Given the description of an element on the screen output the (x, y) to click on. 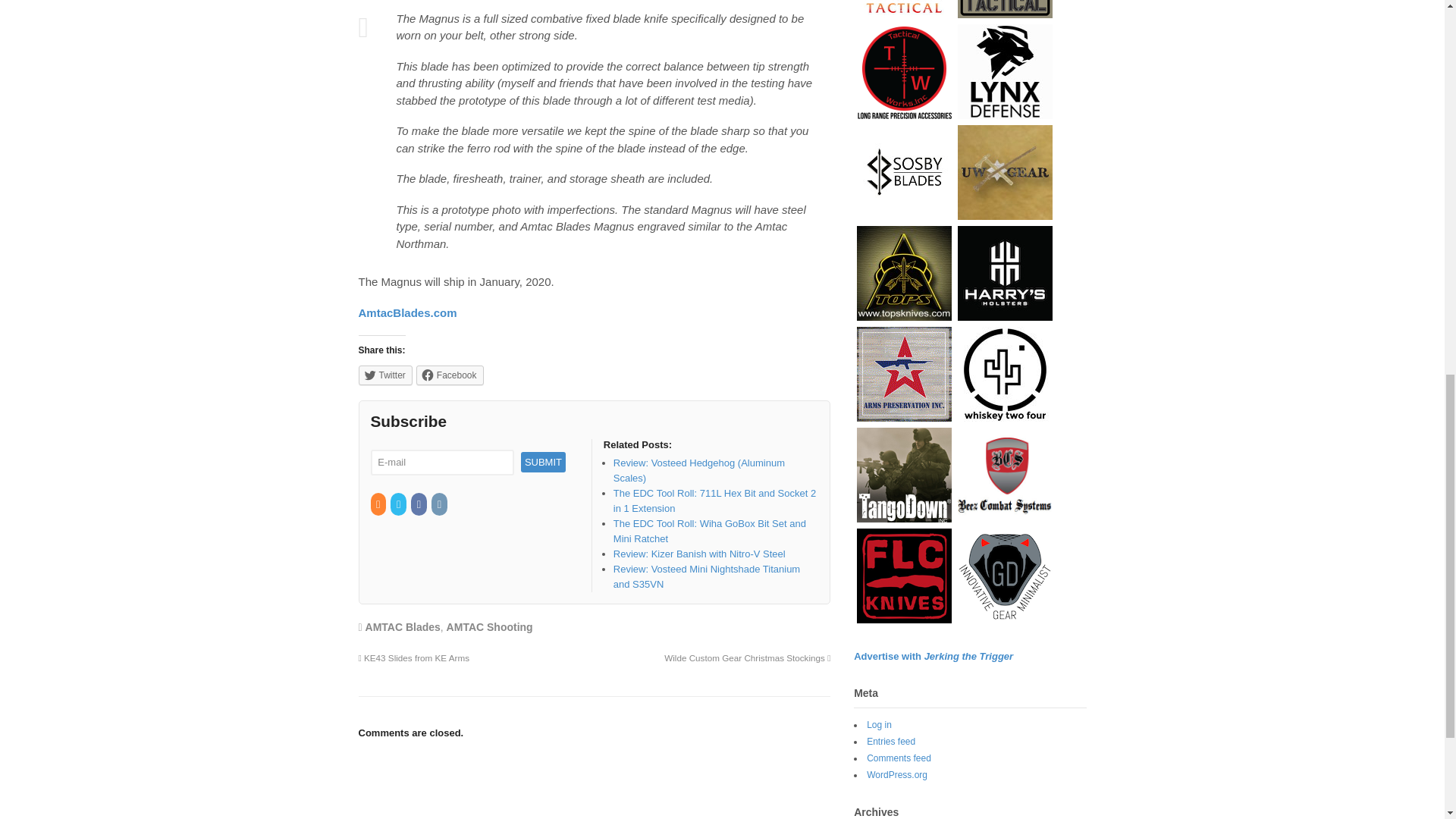
Twitter (385, 374)
E-mail (441, 462)
AMTAC Shooting (489, 626)
Facebook (449, 374)
Twitter (398, 504)
AMTAC Blades (403, 626)
Facebook (419, 504)
Submit (543, 462)
RSS (378, 504)
Review: Vosteed Mini Nightshade Titanium and S35VN (705, 576)
